Given the description of an element on the screen output the (x, y) to click on. 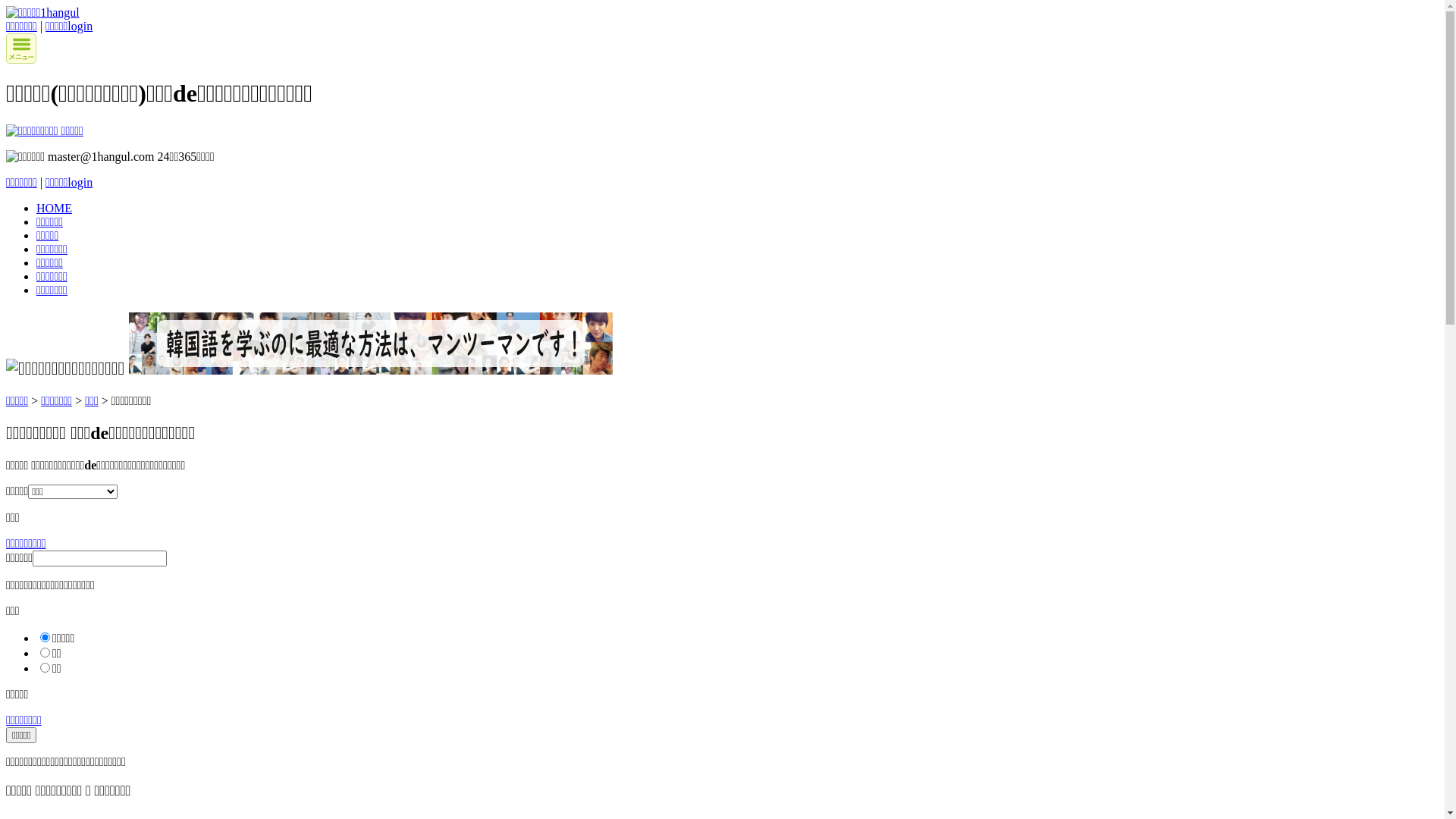
HOME Element type: text (54, 207)
